Given the description of an element on the screen output the (x, y) to click on. 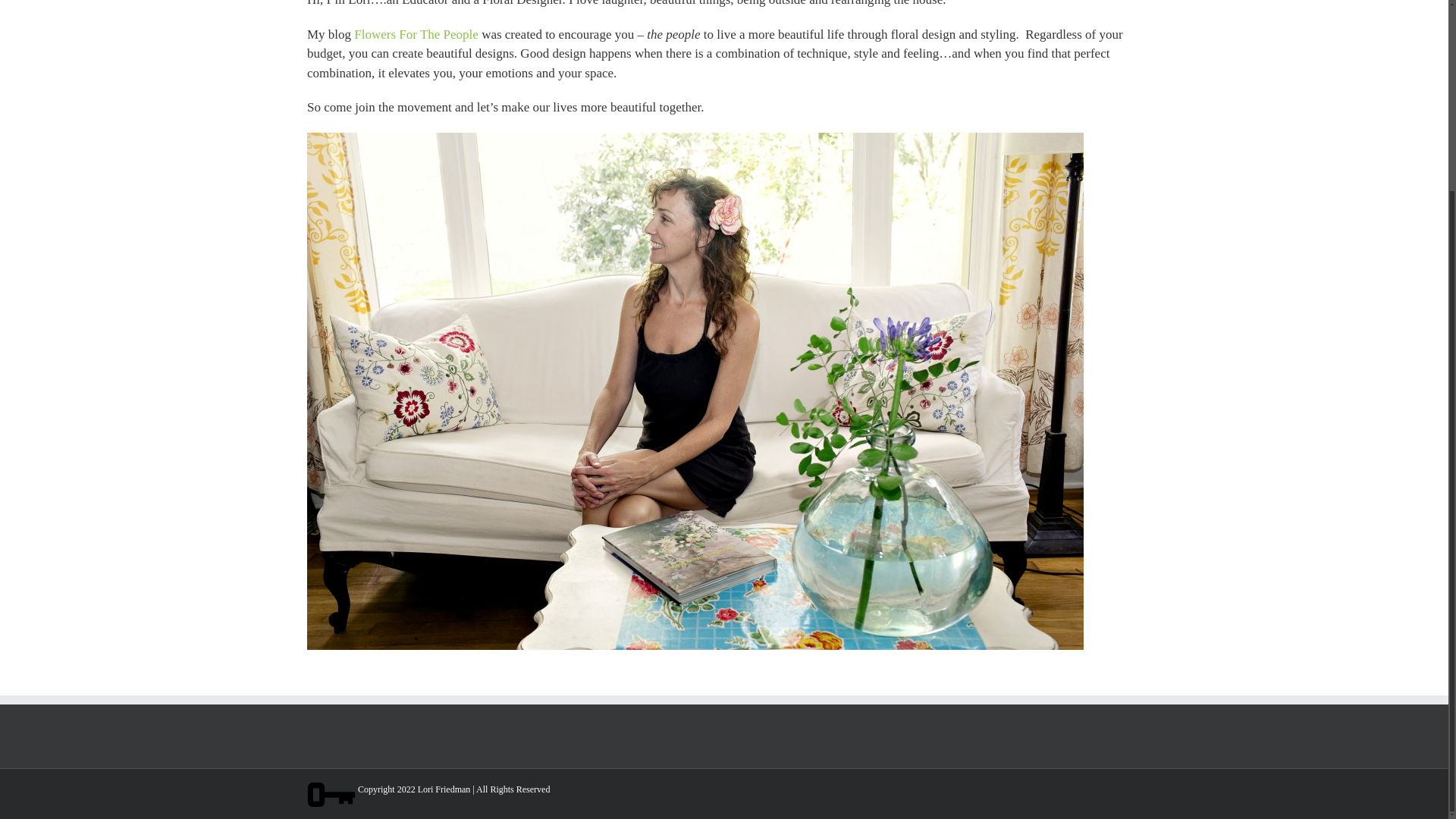
Flowers For The People (416, 34)
